Given the description of an element on the screen output the (x, y) to click on. 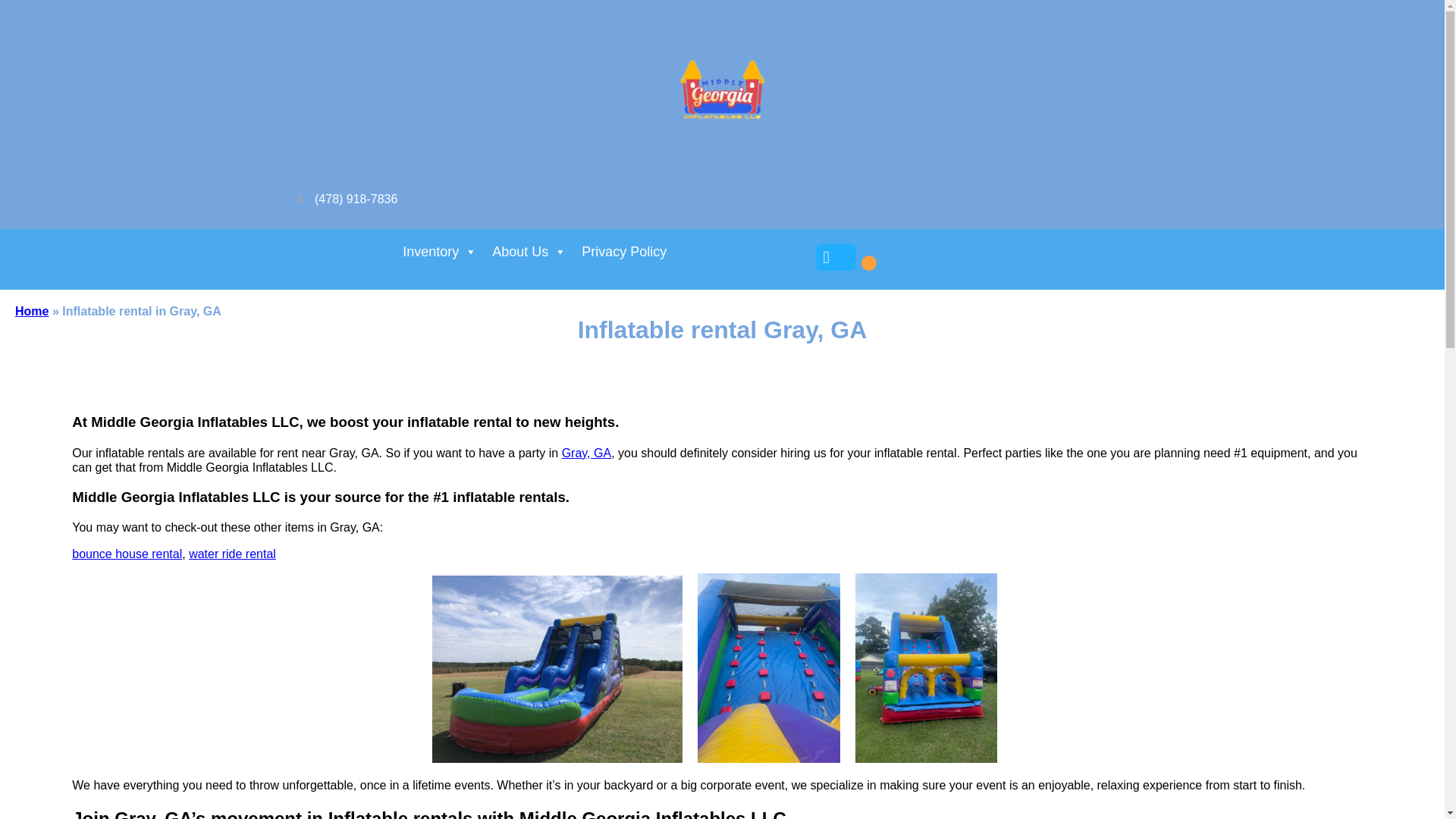
Inventory (439, 251)
About Us (528, 251)
bounce house rental (126, 553)
Home (31, 310)
Privacy Policy (623, 251)
water ride rental (232, 553)
Gray, GA (586, 452)
